Given the description of an element on the screen output the (x, y) to click on. 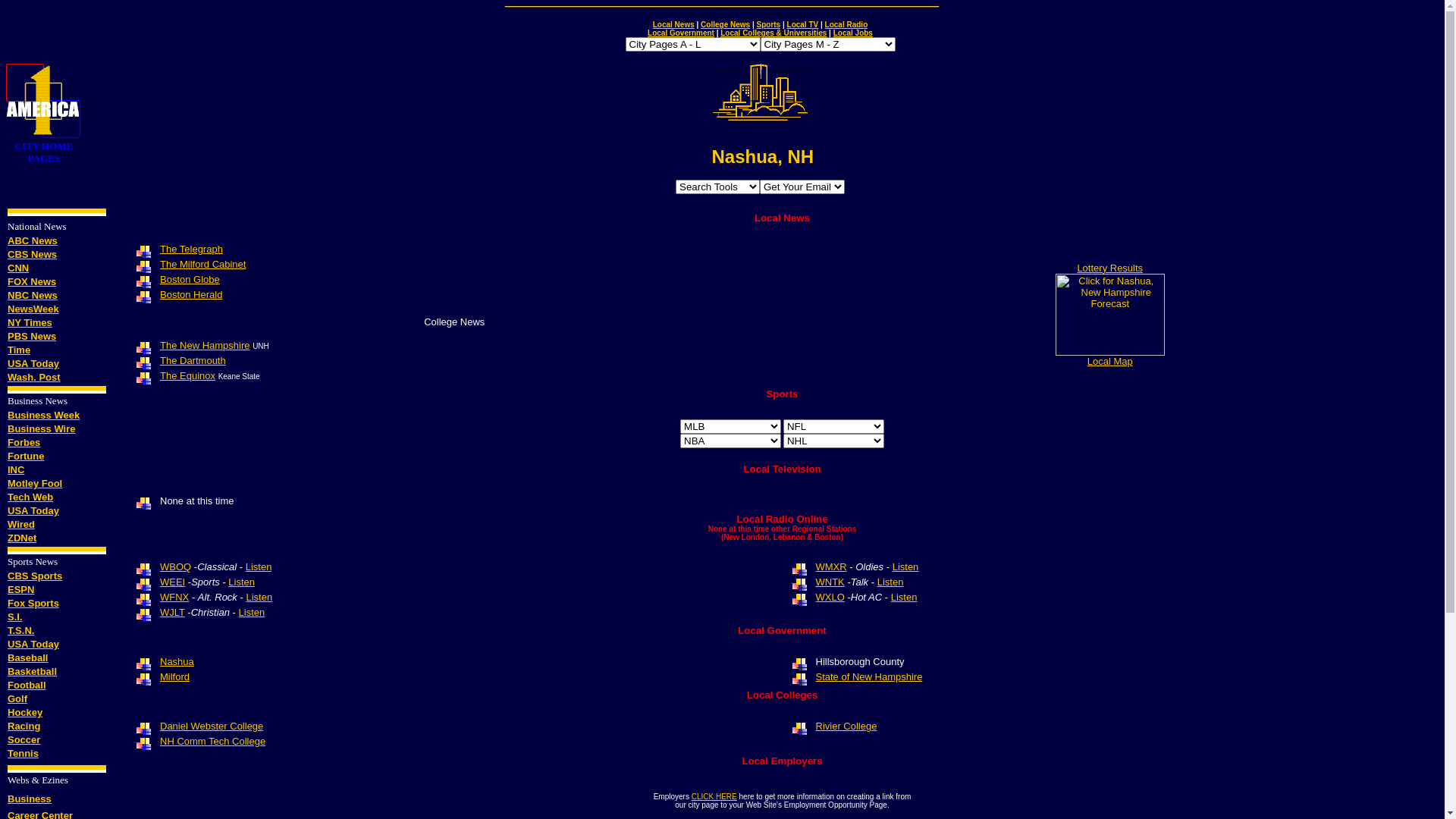
WEEI Element type: text (172, 581)
Listen Element type: text (258, 596)
Racing Element type: text (23, 725)
Wired Element type: text (20, 524)
College News Element type: text (453, 320)
CNN Element type: text (17, 267)
Boston Herald Element type: text (191, 294)
USA Today Element type: text (33, 510)
PBS News Element type: text (31, 336)
NY Times Element type: text (29, 321)
Fortune Element type: text (25, 455)
Sports Element type: text (768, 24)
Listen Element type: text (258, 566)
College News Element type: text (724, 24)
WXLO Element type: text (829, 596)
Golf Element type: text (17, 698)
USA Today Element type: text (33, 363)
Football Element type: text (26, 684)
Local News Element type: text (781, 217)
Daniel Webster College Element type: text (211, 724)
Baseball Element type: text (27, 657)
Local TV Element type: text (803, 24)
WNTK Element type: text (829, 581)
Local Employers Element type: text (781, 760)
Forbes Element type: text (23, 442)
S.I. Element type: text (14, 616)
Sports Element type: text (781, 393)
T.S.N. Element type: text (20, 630)
Business Wire Element type: text (41, 428)
Local Government Element type: text (781, 630)
USA Today Element type: text (33, 643)
Business Element type: text (29, 797)
CBS Sports Element type: text (34, 575)
The New Hampshire Element type: text (205, 345)
FOX News Element type: text (31, 281)
Tennis Element type: text (22, 753)
Listen Element type: text (251, 612)
Local News Element type: text (673, 24)
WJLT Element type: text (172, 612)
CLICK HERE Element type: text (714, 796)
NBC News Element type: text (32, 295)
Fox Sports Element type: text (33, 602)
Listen Element type: text (905, 566)
Lottery Results Element type: text (1109, 267)
Wash. Post Element type: text (33, 376)
INC Element type: text (15, 469)
Time Element type: text (18, 349)
Soccer Element type: text (23, 739)
NH Comm Tech College Element type: text (212, 740)
Local Colleges Element type: text (782, 694)
Listen Element type: text (241, 581)
Hockey Element type: text (24, 712)
Local Radio Element type: text (846, 24)
Motley Fool Element type: text (34, 483)
Local Radio Online Element type: text (781, 518)
WMXR Element type: text (831, 566)
Rivier College Element type: text (846, 725)
ESPN Element type: text (20, 589)
NewsWeek Element type: text (33, 308)
ABC News Element type: text (32, 240)
Local Television Element type: text (781, 468)
The Telegraph Element type: text (191, 247)
The Milford Cabinet Element type: text (202, 263)
Listen Element type: text (904, 596)
Nashua Element type: text (177, 660)
ZDNet Element type: text (21, 537)
Business Week Element type: text (43, 414)
The Dartmouth Element type: text (192, 360)
State of New Hampshire Element type: text (868, 675)
The Equinox Element type: text (187, 375)
Listen Element type: text (890, 581)
Local Government Element type: text (680, 32)
Local Colleges & Universities Element type: text (773, 32)
Local Map Element type: text (1109, 361)
Milford Element type: text (174, 675)
WFNX Element type: text (174, 596)
Local Jobs Element type: text (852, 32)
Tech Web Element type: text (30, 496)
Basketball Element type: text (31, 671)
Boston Globe Element type: text (189, 279)
CBS News Element type: text (31, 254)
WBOQ Element type: text (175, 566)
